Given the description of an element on the screen output the (x, y) to click on. 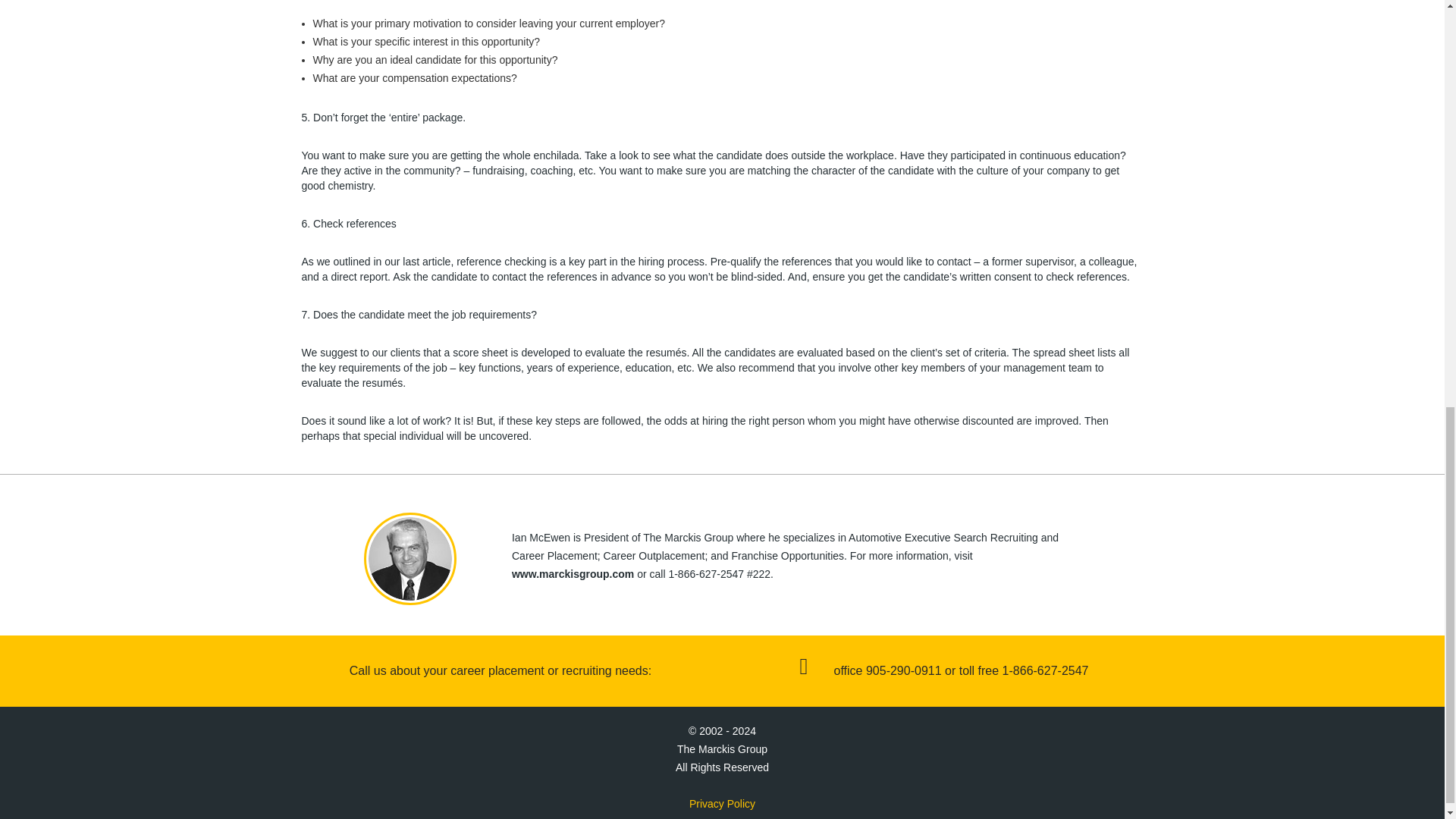
www.marckisgroup.com (572, 573)
Privacy Policy (721, 803)
